Given the description of an element on the screen output the (x, y) to click on. 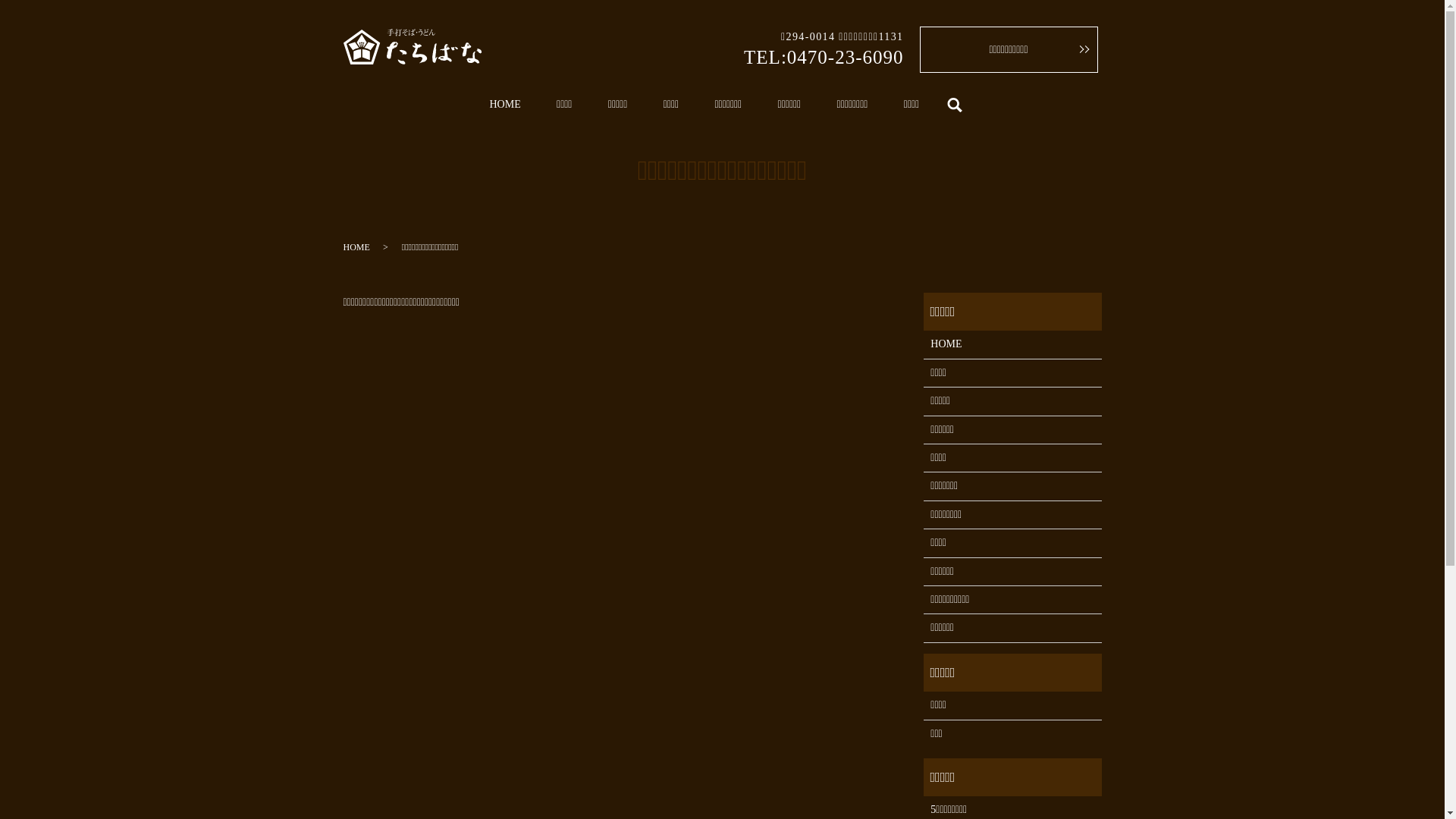
search Element type: text (954, 105)
HOME Element type: text (1011, 343)
HOME Element type: text (505, 104)
HOME Element type: text (355, 246)
